Given the description of an element on the screen output the (x, y) to click on. 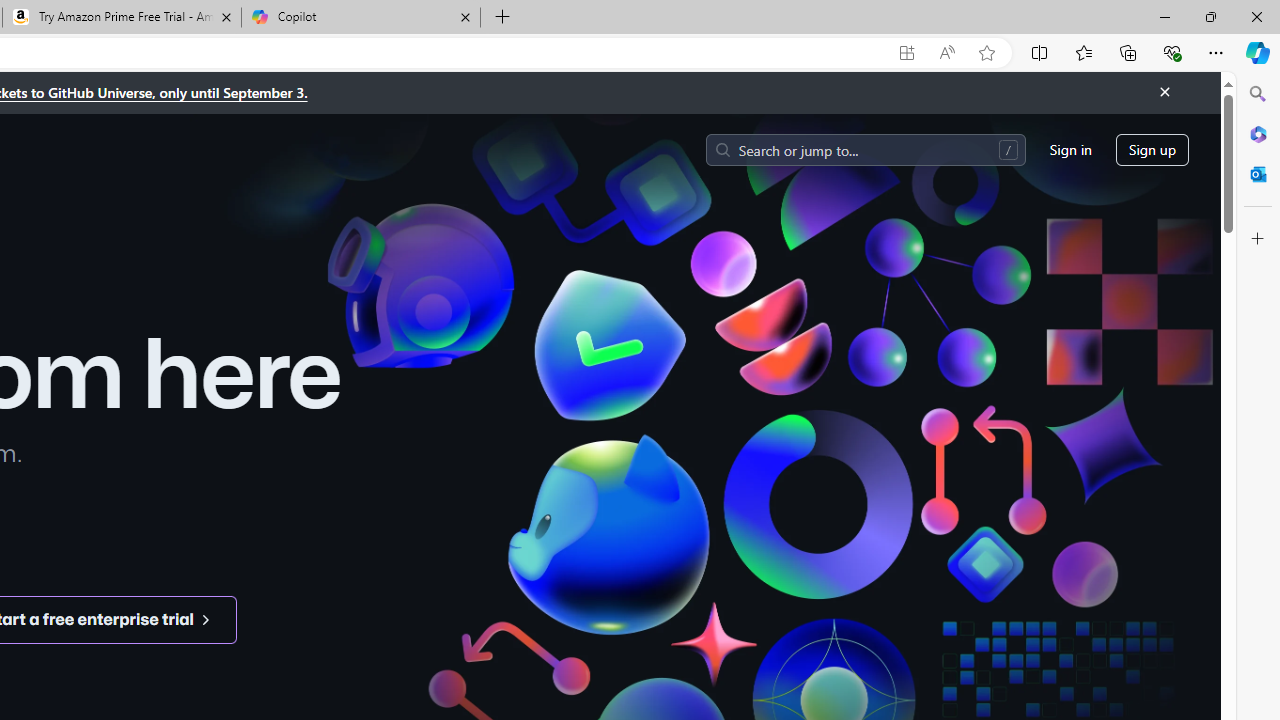
App available. Install GitHub (906, 53)
Favorites (1083, 52)
Restore (1210, 16)
Microsoft 365 (1258, 133)
Close tab (464, 16)
Class: octicon arrow-symbol-mktg (205, 619)
Collections (1128, 52)
Minimize (1164, 16)
Copilot (Ctrl+Shift+.) (1258, 52)
Browser essentials (1171, 52)
Split screen (1039, 52)
Add this page to favorites (Ctrl+D) (986, 53)
Close Outlook pane (1258, 174)
Copilot (360, 17)
